Given the description of an element on the screen output the (x, y) to click on. 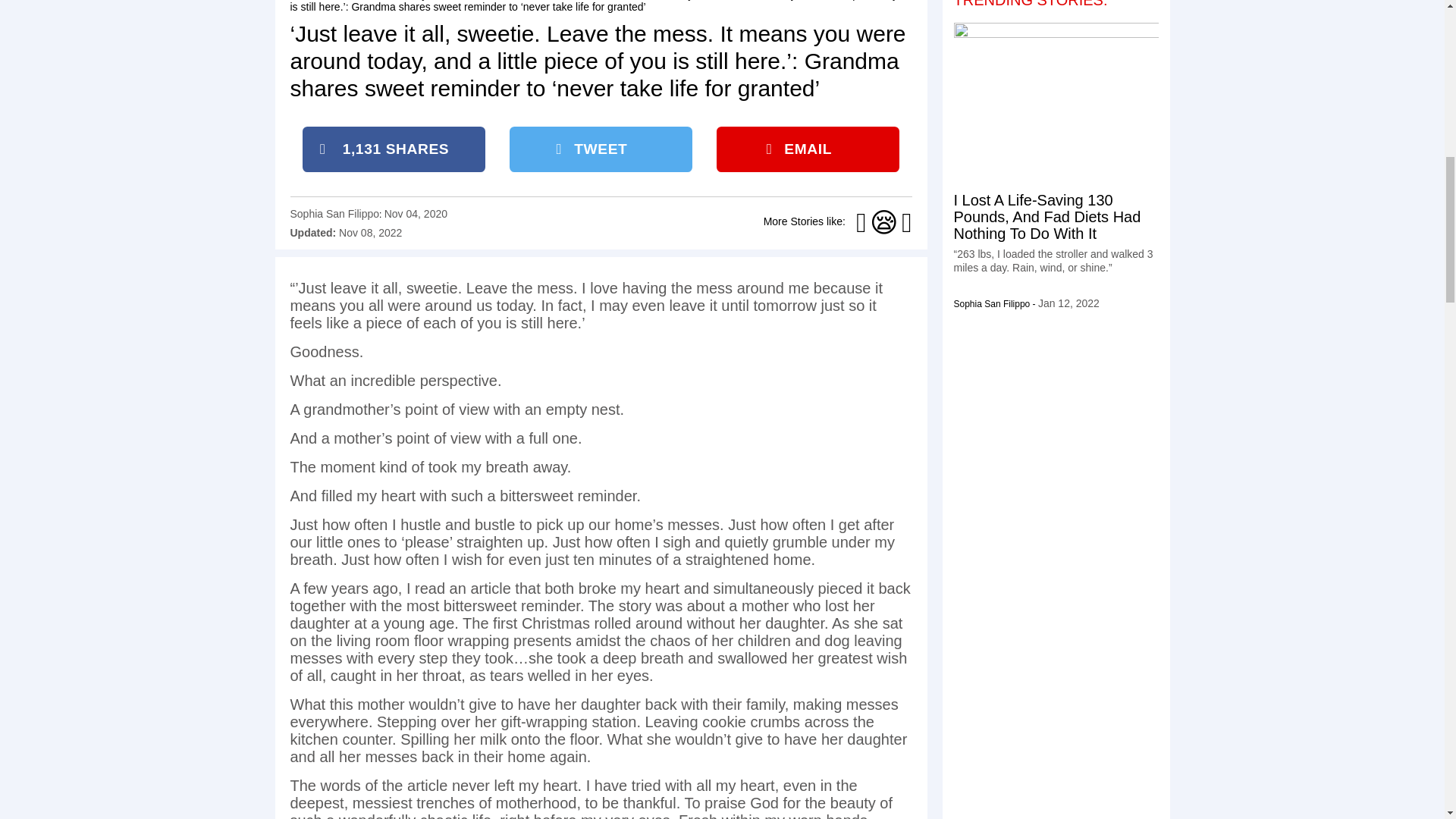
November 4, 2020 (415, 214)
November 8, 2022 (370, 232)
January 12, 2022 (1068, 303)
